Given the description of an element on the screen output the (x, y) to click on. 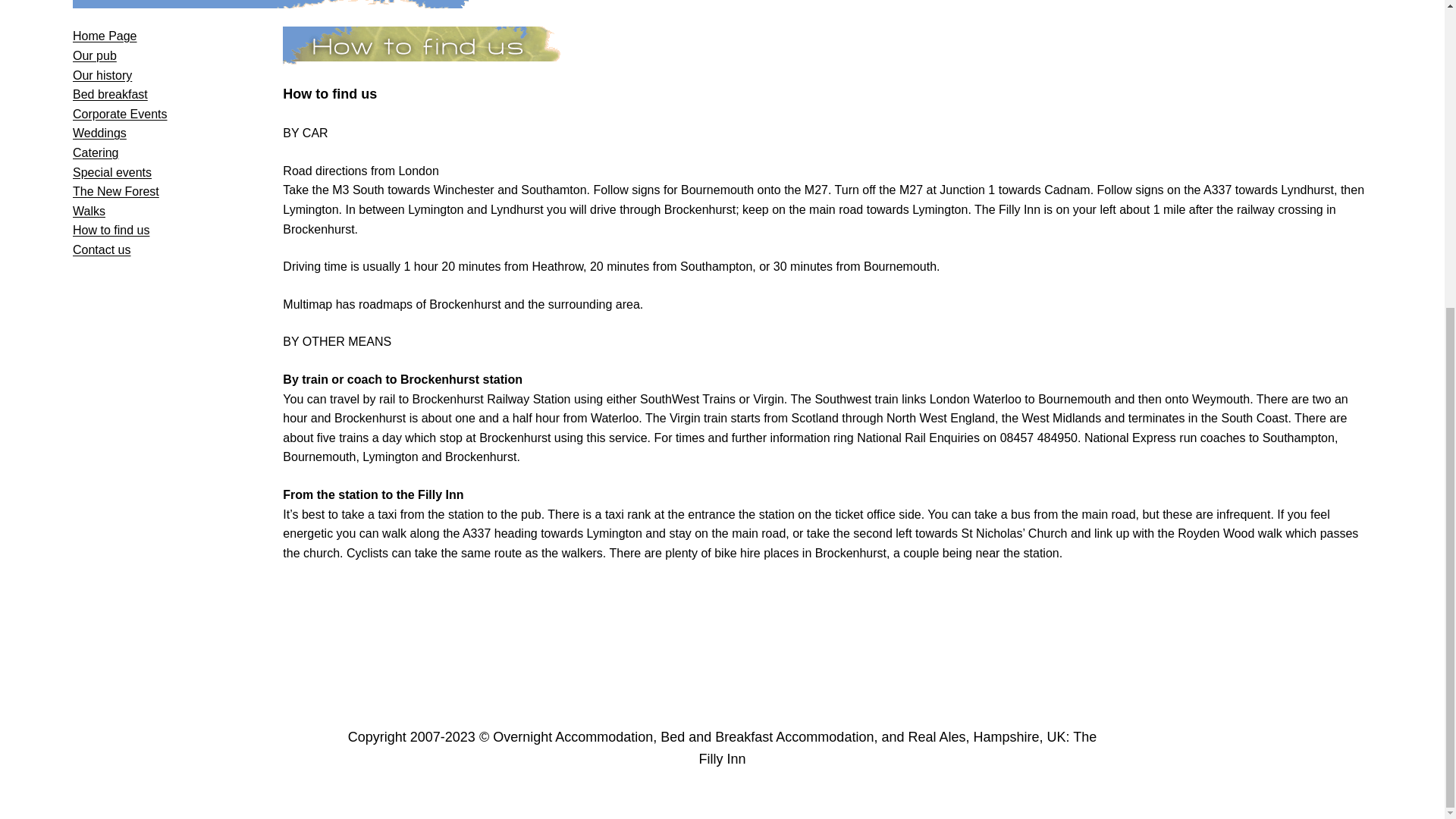
Corporate Events (119, 113)
Home Page (104, 35)
Catering (94, 152)
Bed breakfast (110, 93)
The New Forest (115, 191)
How to find us (110, 229)
Our history (102, 74)
Contact us (101, 249)
Special events (111, 172)
Walks (88, 210)
Our pub (94, 55)
Weddings (99, 132)
